Given the description of an element on the screen output the (x, y) to click on. 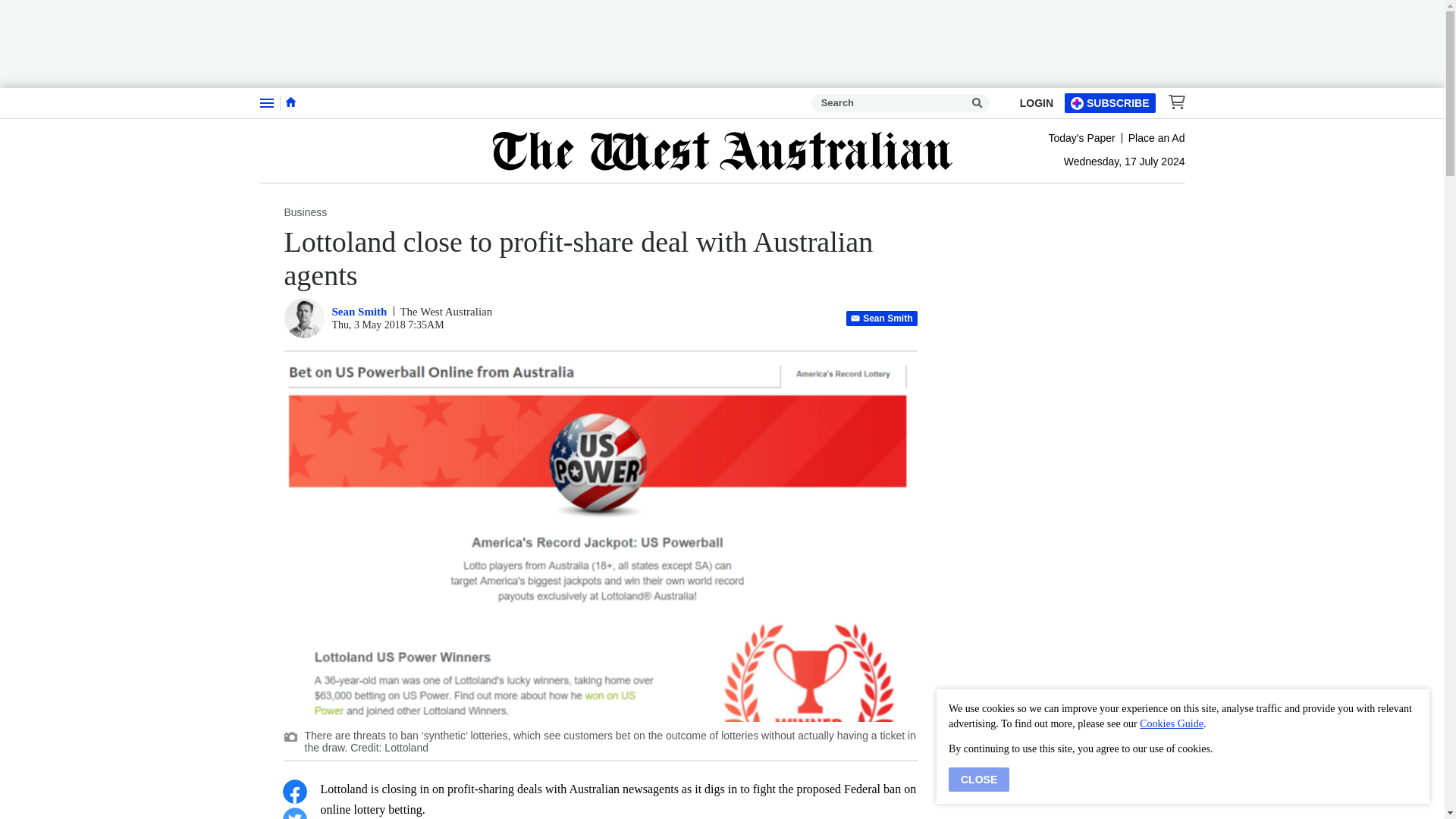
Please enter a search term. (977, 102)
Home (290, 102)
Empty Cart Icon (1172, 102)
